Given the description of an element on the screen output the (x, y) to click on. 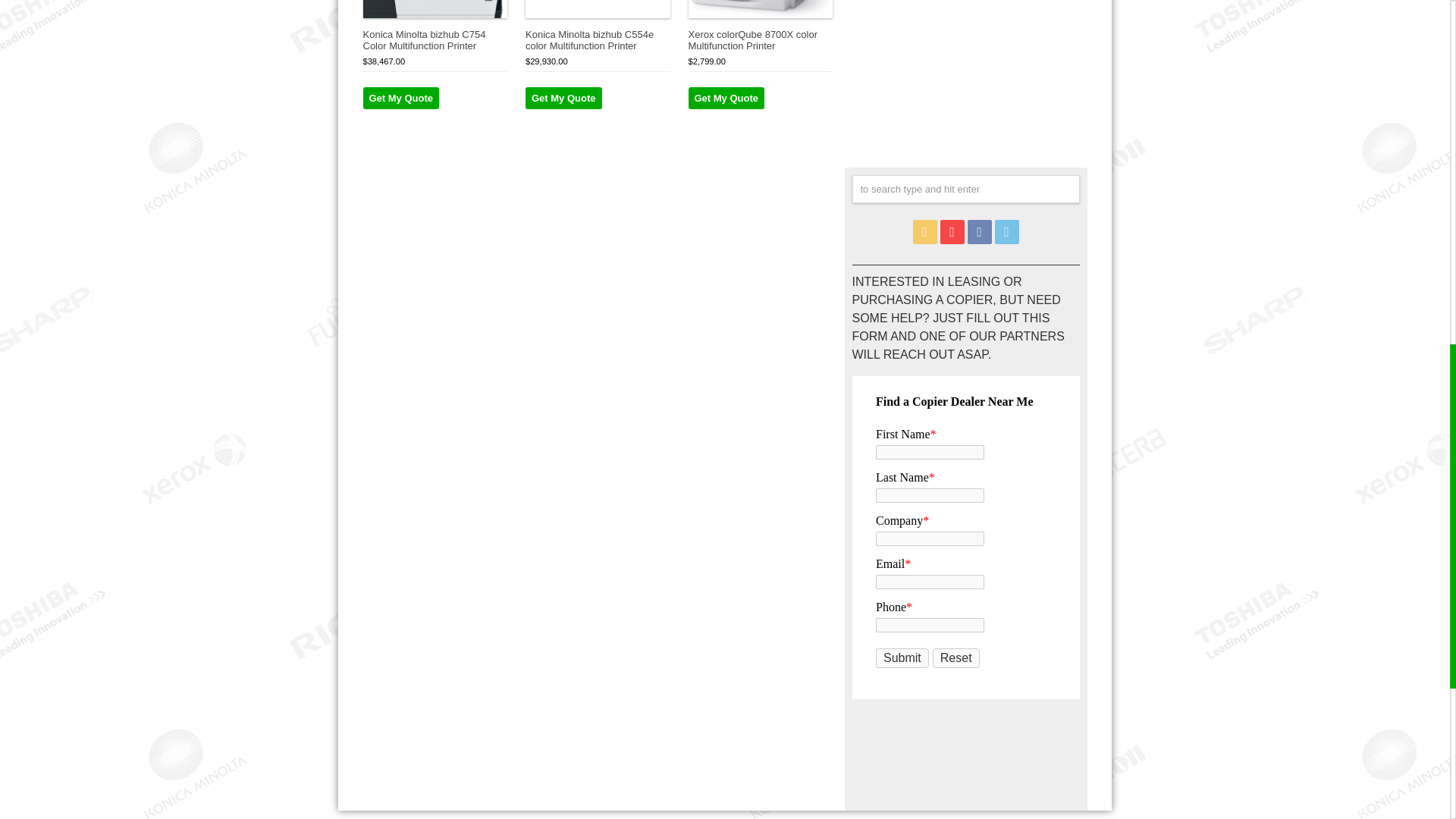
to search type and hit enter (965, 189)
